Given the description of an element on the screen output the (x, y) to click on. 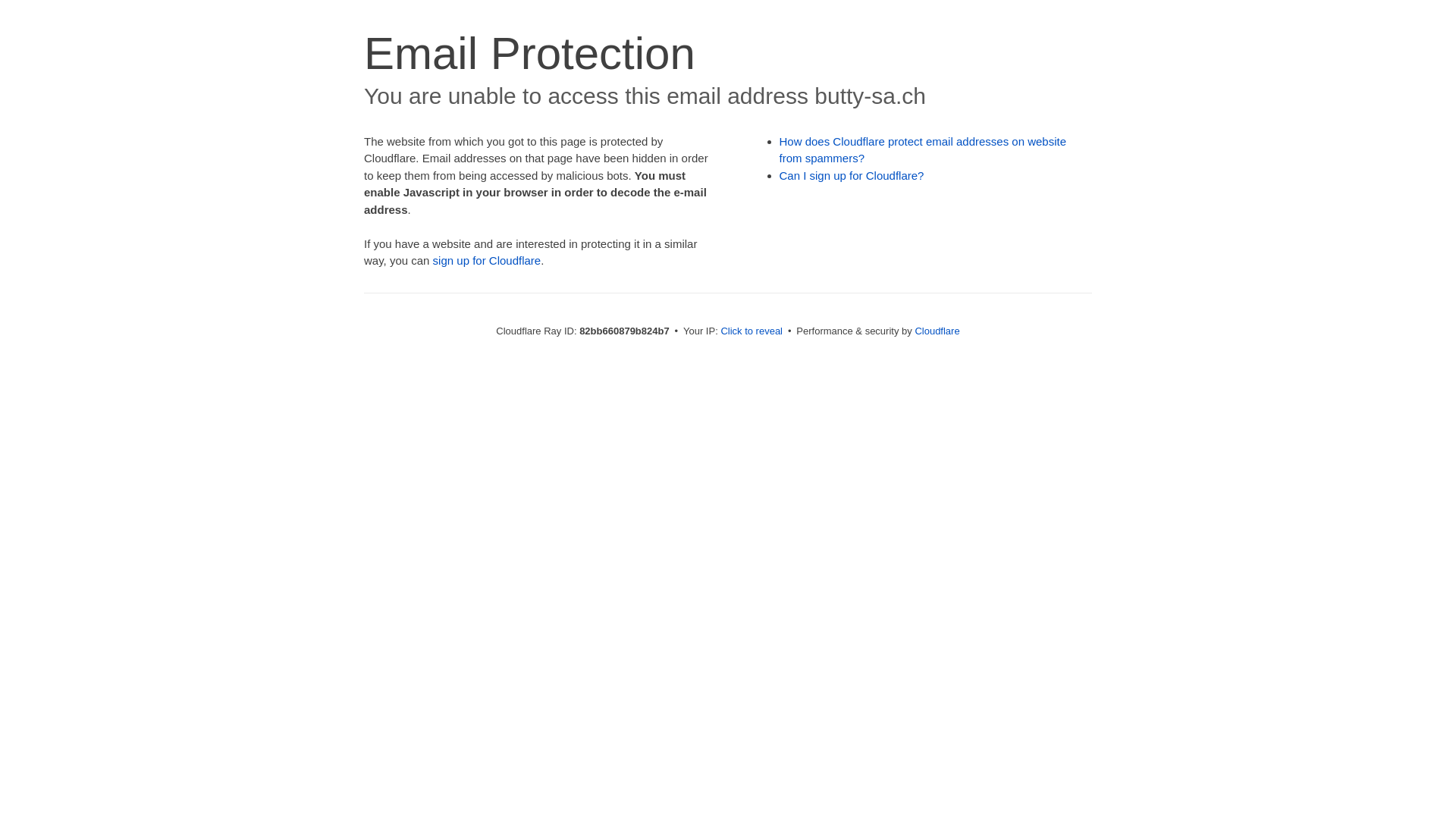
Can I sign up for Cloudflare? Element type: text (851, 175)
Click to reveal Element type: text (751, 330)
sign up for Cloudflare Element type: text (487, 260)
Cloudflare Element type: text (936, 330)
